Given the description of an element on the screen output the (x, y) to click on. 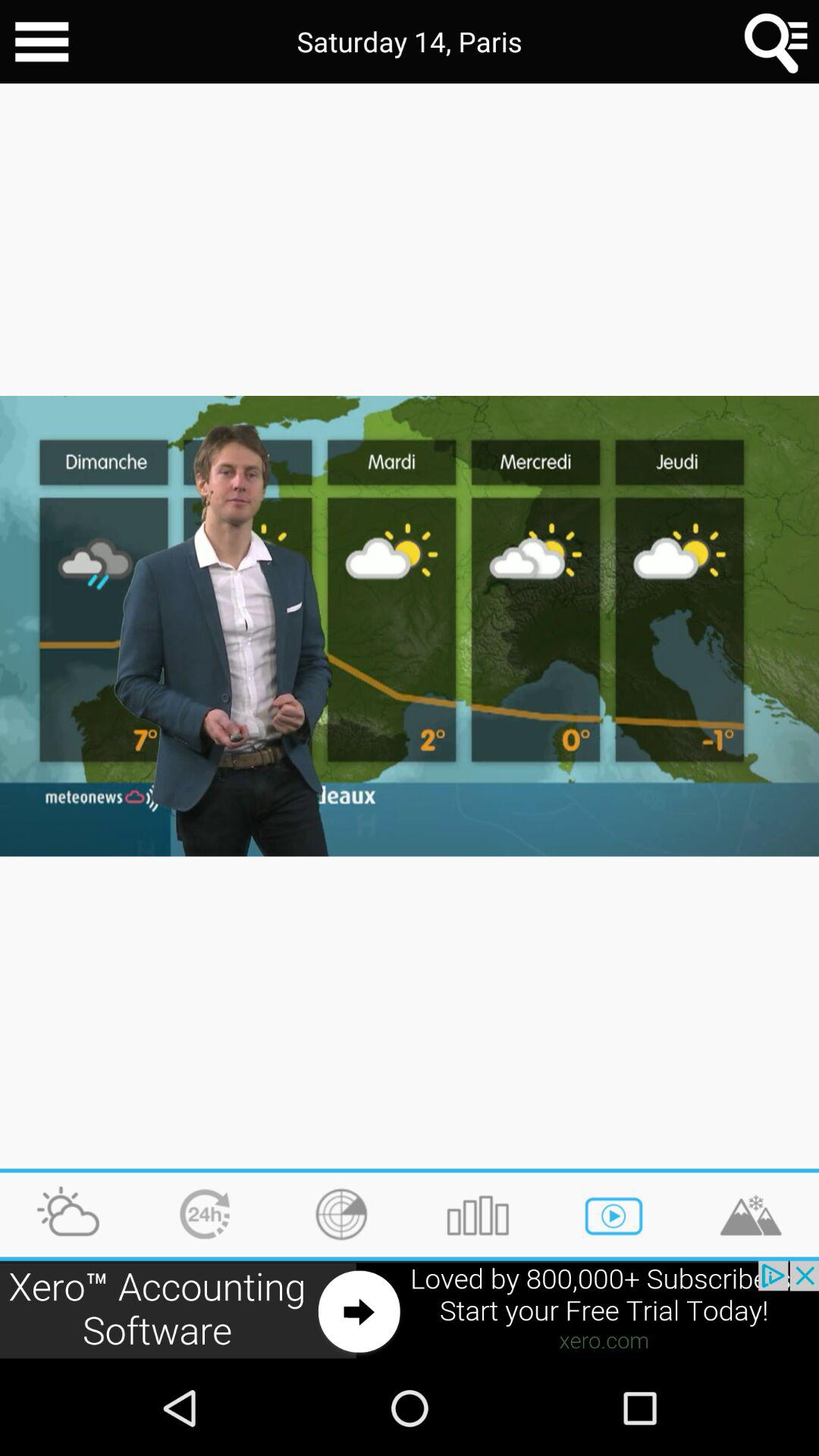
go back button option (41, 41)
